Given the description of an element on the screen output the (x, y) to click on. 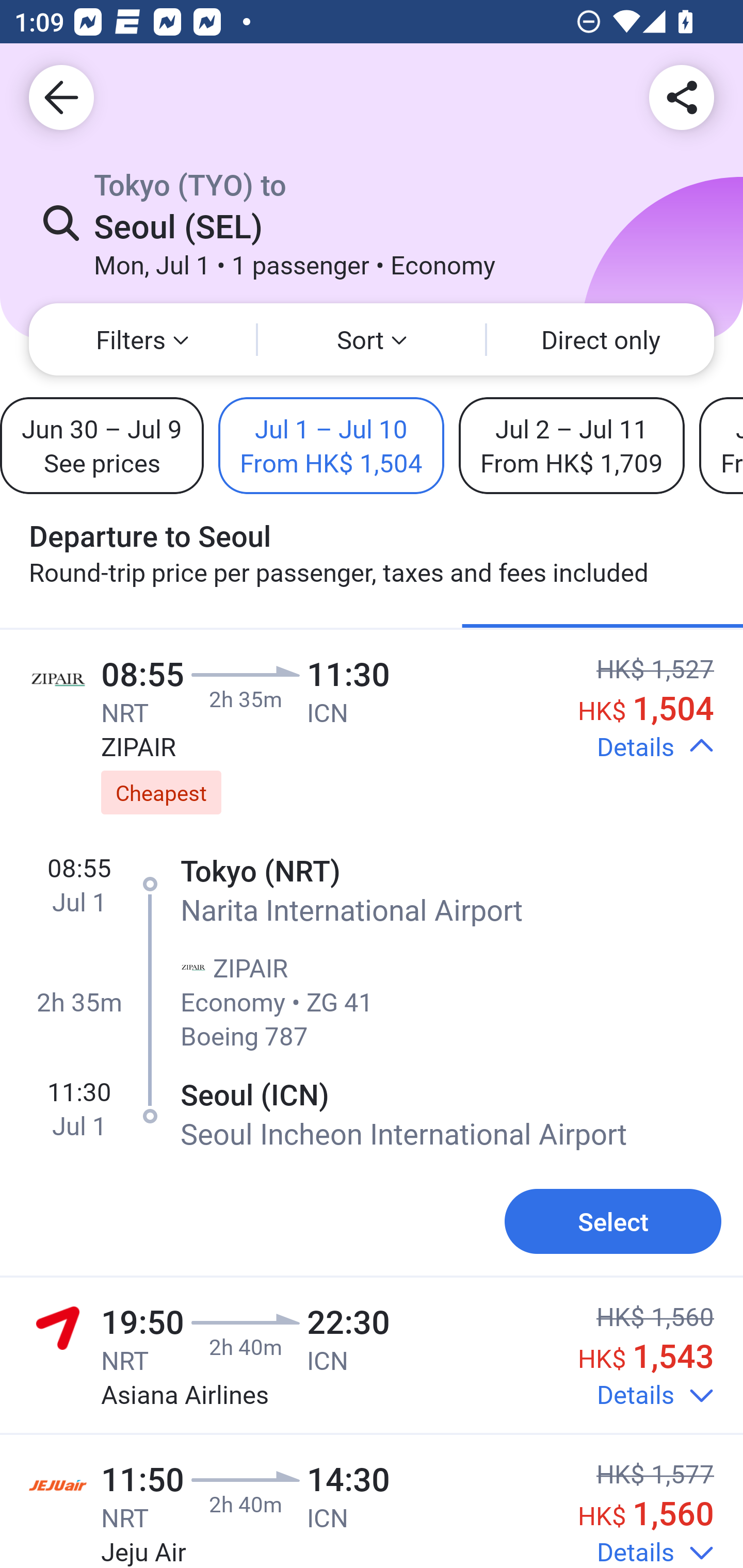
Filters (141, 339)
Sort (371, 339)
Direct only (600, 339)
Jun 30 – Jul 9 See prices (101, 444)
Jul 1 – Jul 10 From HK$ 1,504 (331, 444)
Jul 2 – Jul 11 From HK$ 1,709 (571, 444)
Select (612, 1221)
